Given the description of an element on the screen output the (x, y) to click on. 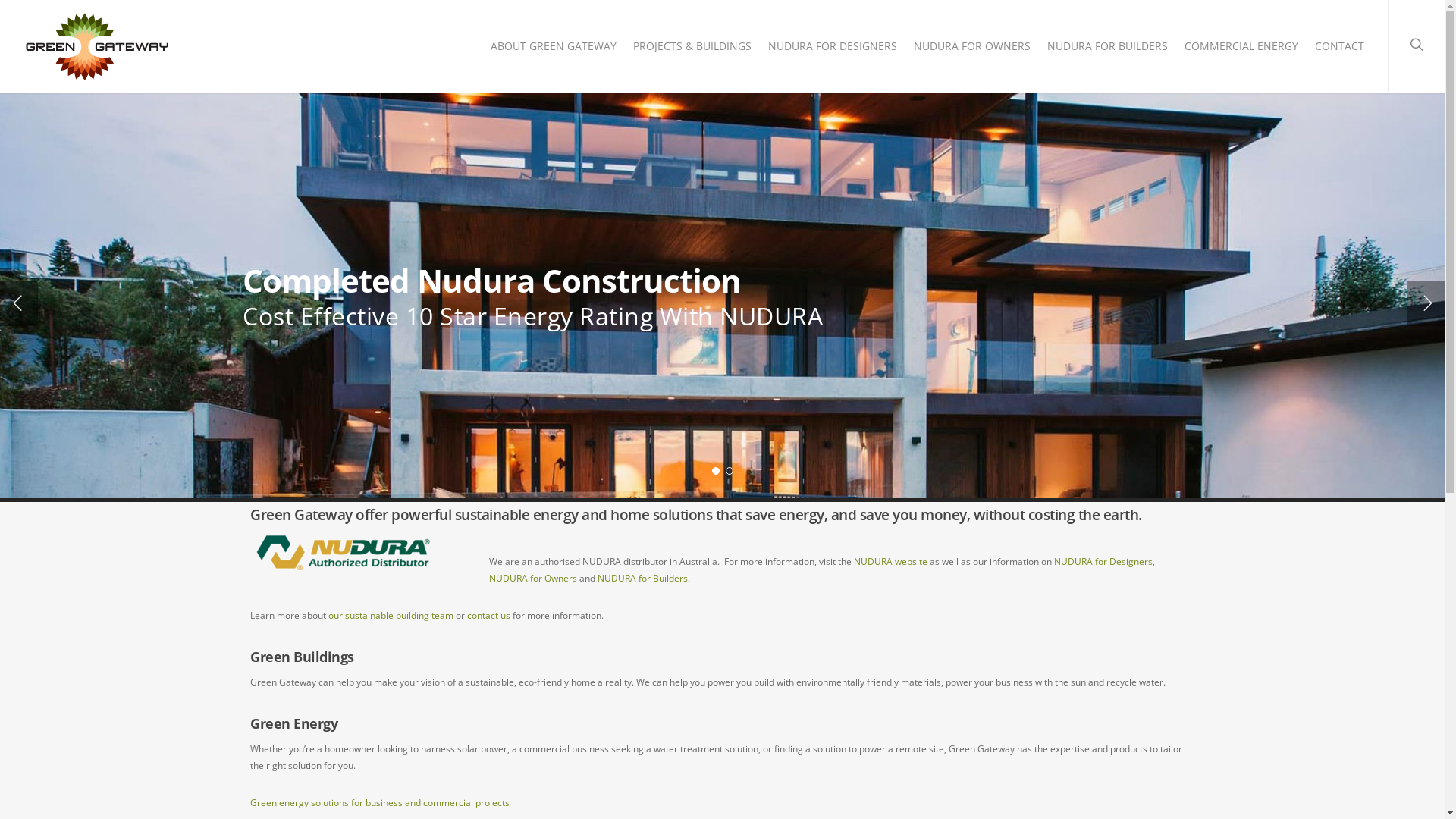
NUDURA for Designers Element type: text (1103, 561)
contact us Element type: text (488, 614)
NUDURA website Element type: text (890, 561)
our sustainable building team Element type: text (390, 614)
PROJECTS & BUILDINGS Element type: text (692, 49)
CONTACT Element type: text (1339, 49)
NUDURA FOR OWNERS Element type: text (972, 49)
NUDURA FOR BUILDERS Element type: text (1107, 49)
Green energy solutions for business and commercial projects Element type: text (379, 802)
NUDURA FOR DESIGNERS Element type: text (832, 49)
ABOUT GREEN GATEWAY Element type: text (553, 49)
COMMERCIAL ENERGY Element type: text (1240, 49)
NUDURA for Builders Element type: text (642, 577)
NUDURA for Owners Element type: text (533, 577)
